Given the description of an element on the screen output the (x, y) to click on. 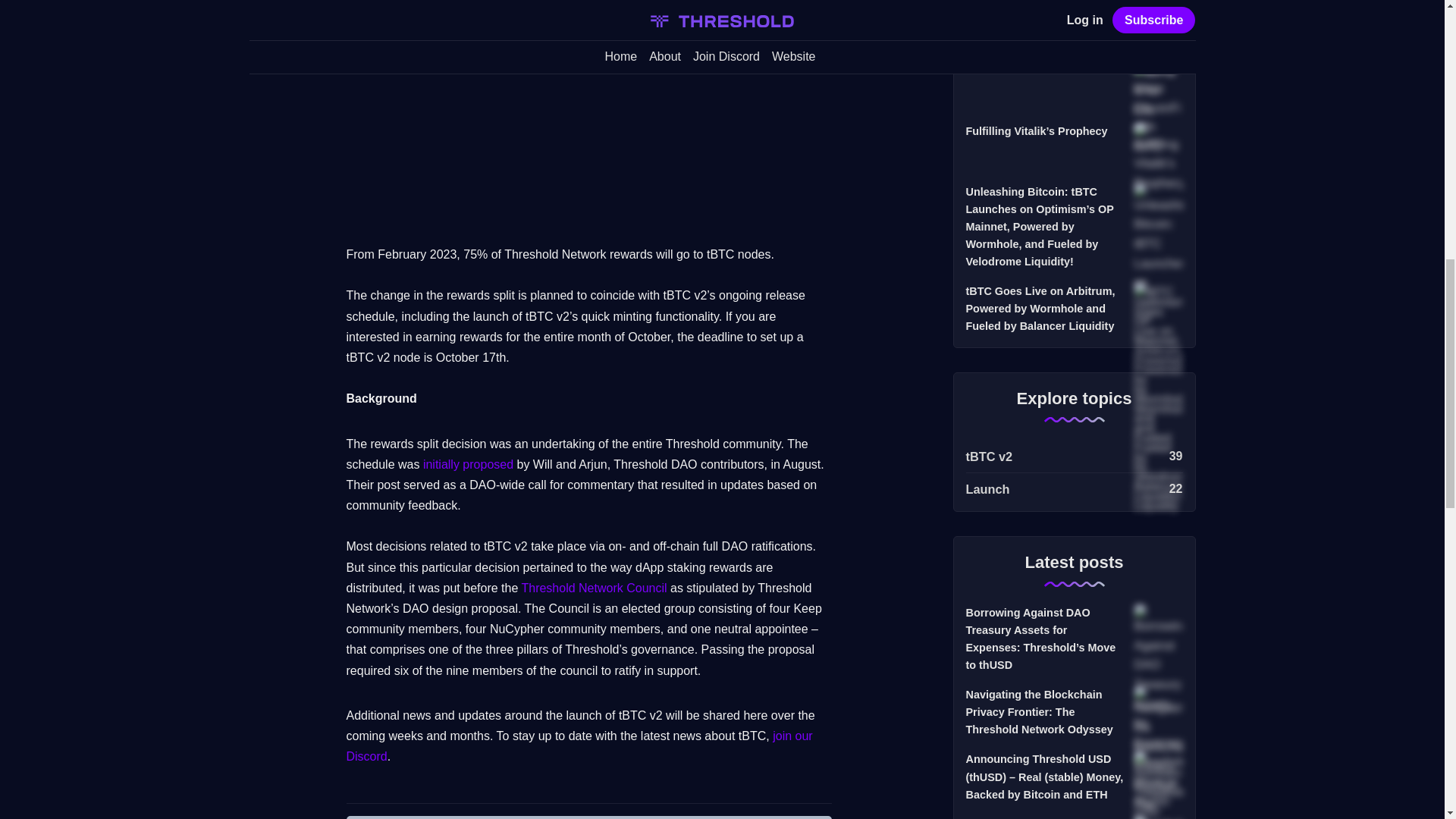
join our Discord (579, 745)
Launch (1074, 485)
initially proposed (468, 463)
Threshold Network Council (593, 587)
tBTC v2 (1074, 456)
